Given the description of an element on the screen output the (x, y) to click on. 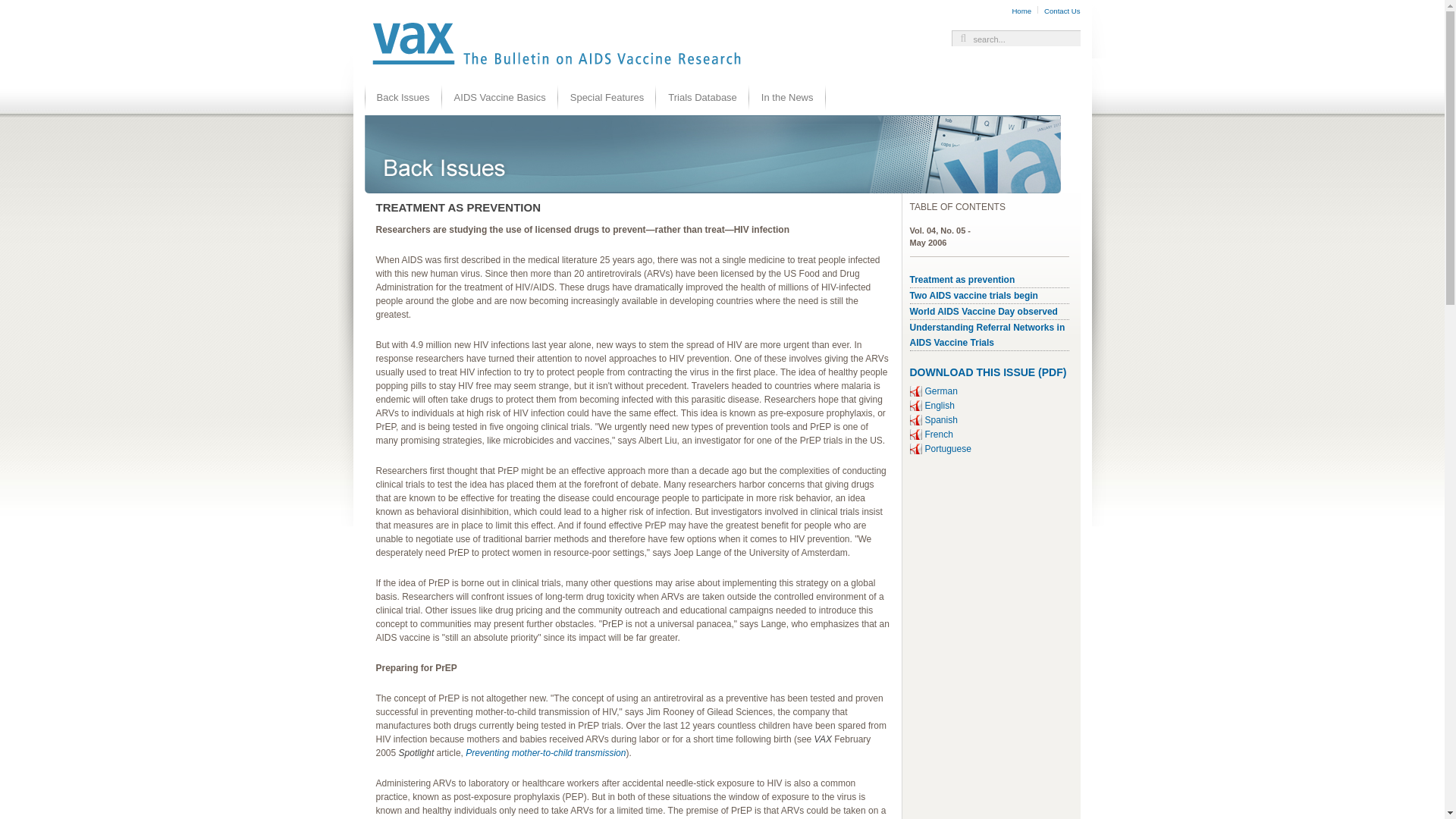
Portuguese (947, 448)
Home (1020, 11)
Trials Database (702, 97)
Two AIDS vaccine trials begin (974, 295)
Contact Us (1061, 11)
German (941, 390)
Spanish (941, 419)
French (938, 434)
Spanish (941, 419)
AIDS Vaccine Basics (499, 97)
Understanding Referral Networks in AIDS Vaccine Trials (987, 335)
French (938, 434)
Treatment as prevention (962, 279)
English (939, 405)
English (939, 405)
